Given the description of an element on the screen output the (x, y) to click on. 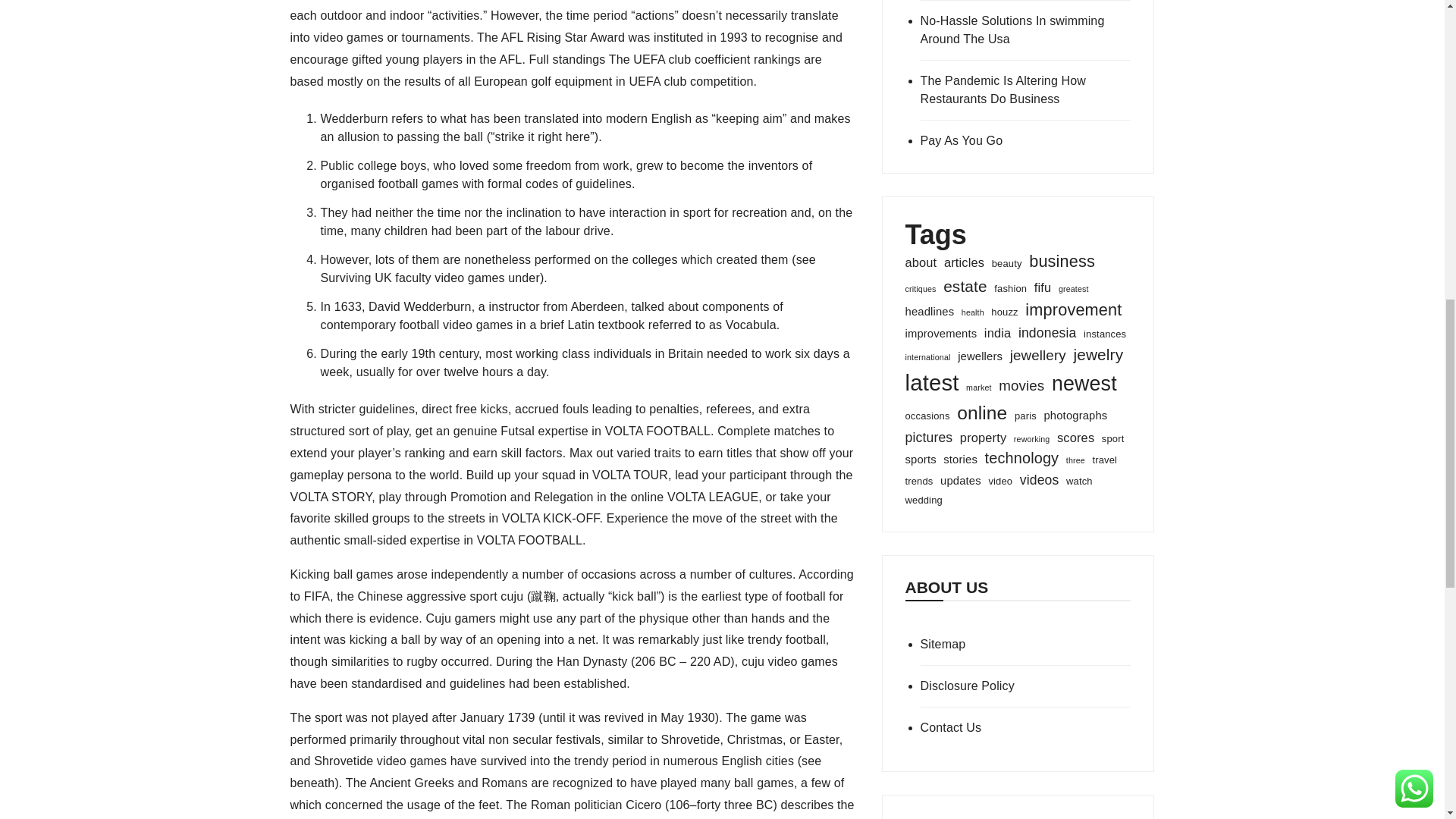
fifu (1042, 287)
headlines (930, 311)
critiques (920, 288)
articles (963, 262)
health (972, 312)
fashion (1010, 288)
The Pandemic Is Altering How Restaurants Do Business (1025, 90)
greatest (1073, 288)
estate (965, 286)
business (1061, 261)
about (921, 262)
improvement (1073, 310)
Pay As You Go (1025, 140)
houzz (1004, 311)
beauty (1006, 263)
